Given the description of an element on the screen output the (x, y) to click on. 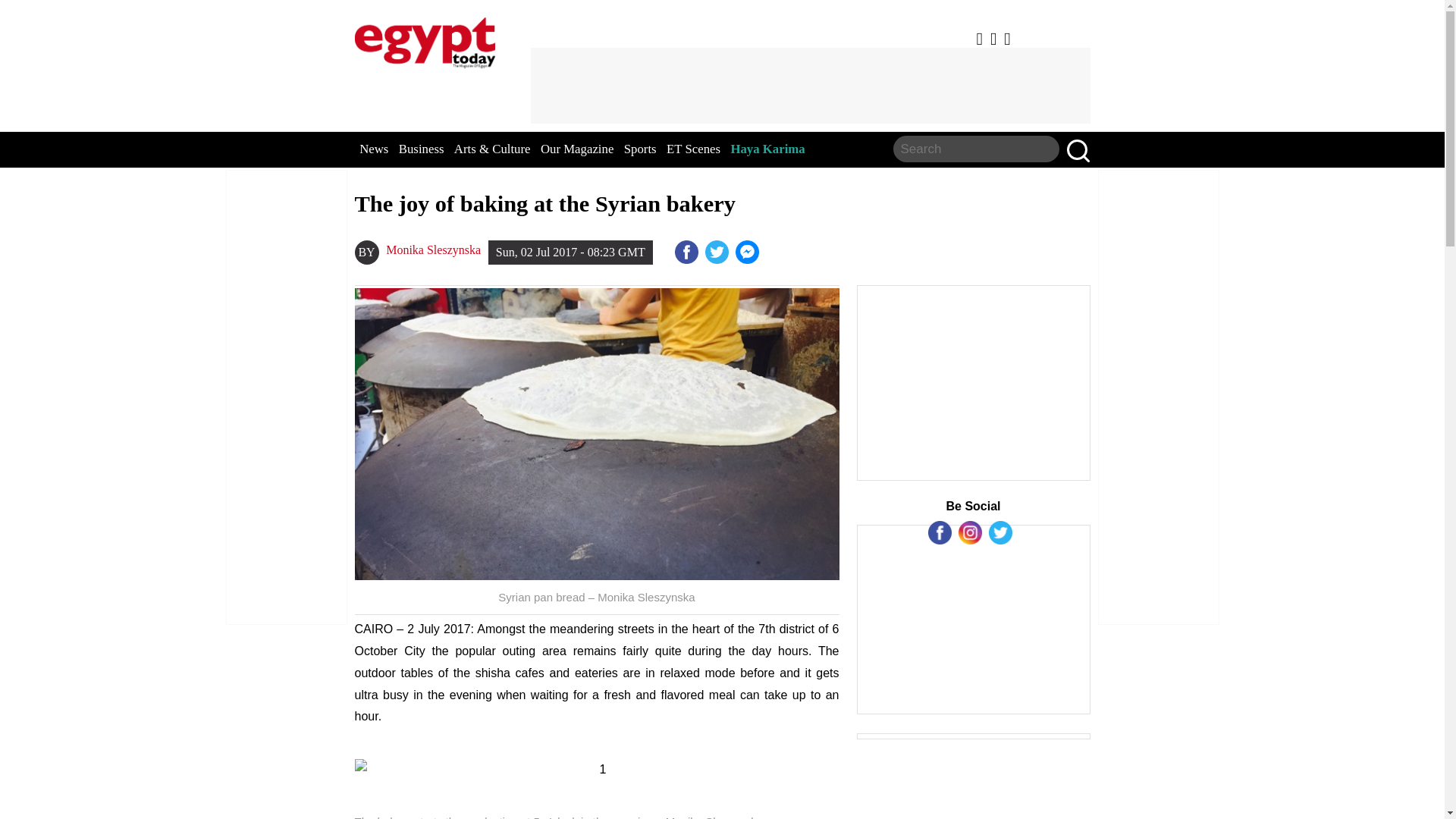
Business (421, 149)
Our Magazine (576, 149)
Haya Karima (767, 149)
Monika Sleszynska (432, 250)
EgyptToday (425, 39)
ET Scenes (693, 149)
Sisi heads to Guinea first destination in overseas tour (748, 251)
Sports (640, 149)
1 (597, 770)
